Given the description of an element on the screen output the (x, y) to click on. 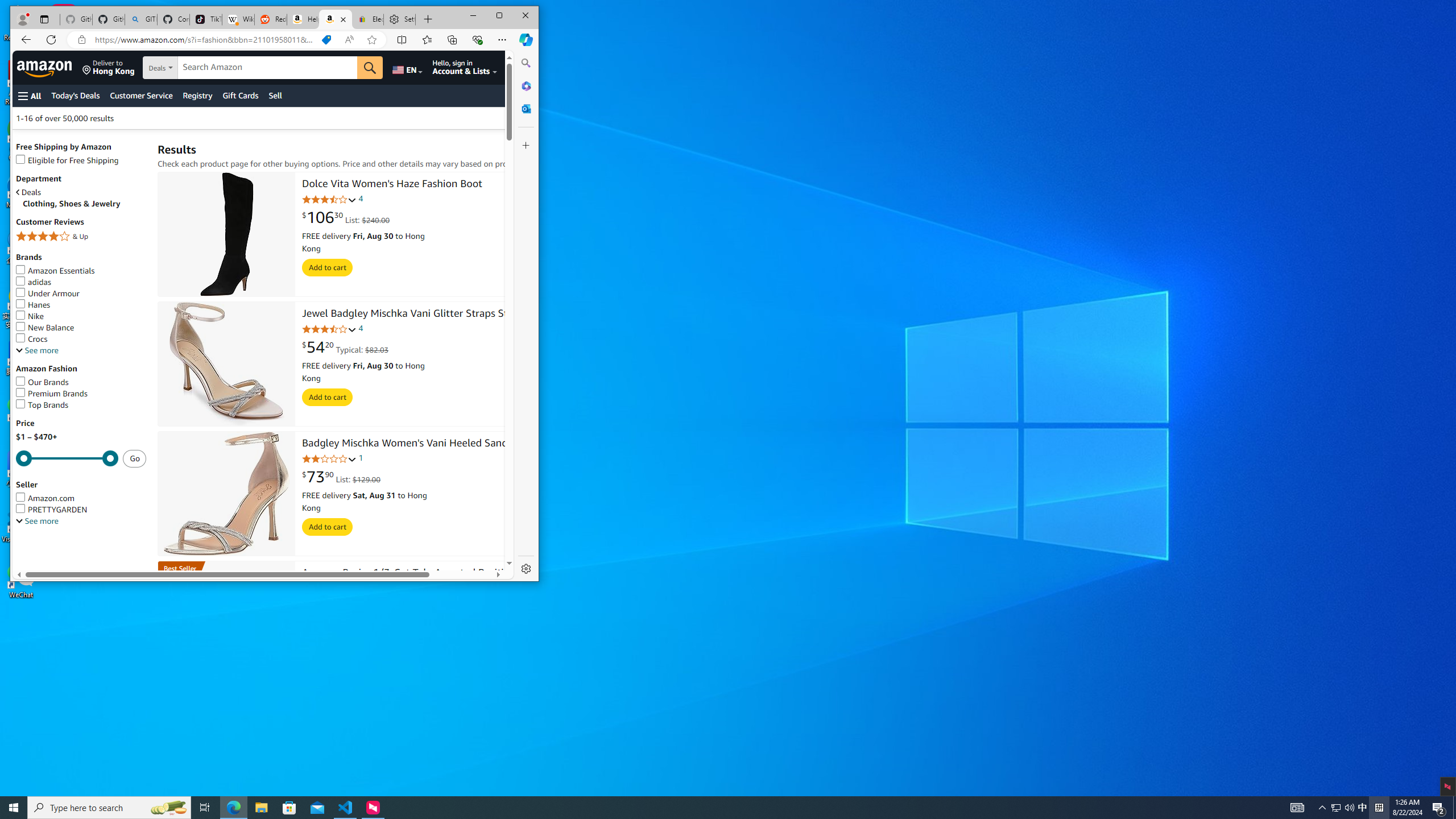
Notification Chevron (1322, 807)
Action Center, 2 new notifications (1439, 807)
AutomationID: 4105 (1297, 807)
Today's Deals (1362, 807)
Running applications (75, 95)
Top Brands (707, 807)
Add to cart (80, 405)
4 (327, 526)
